Given the description of an element on the screen output the (x, y) to click on. 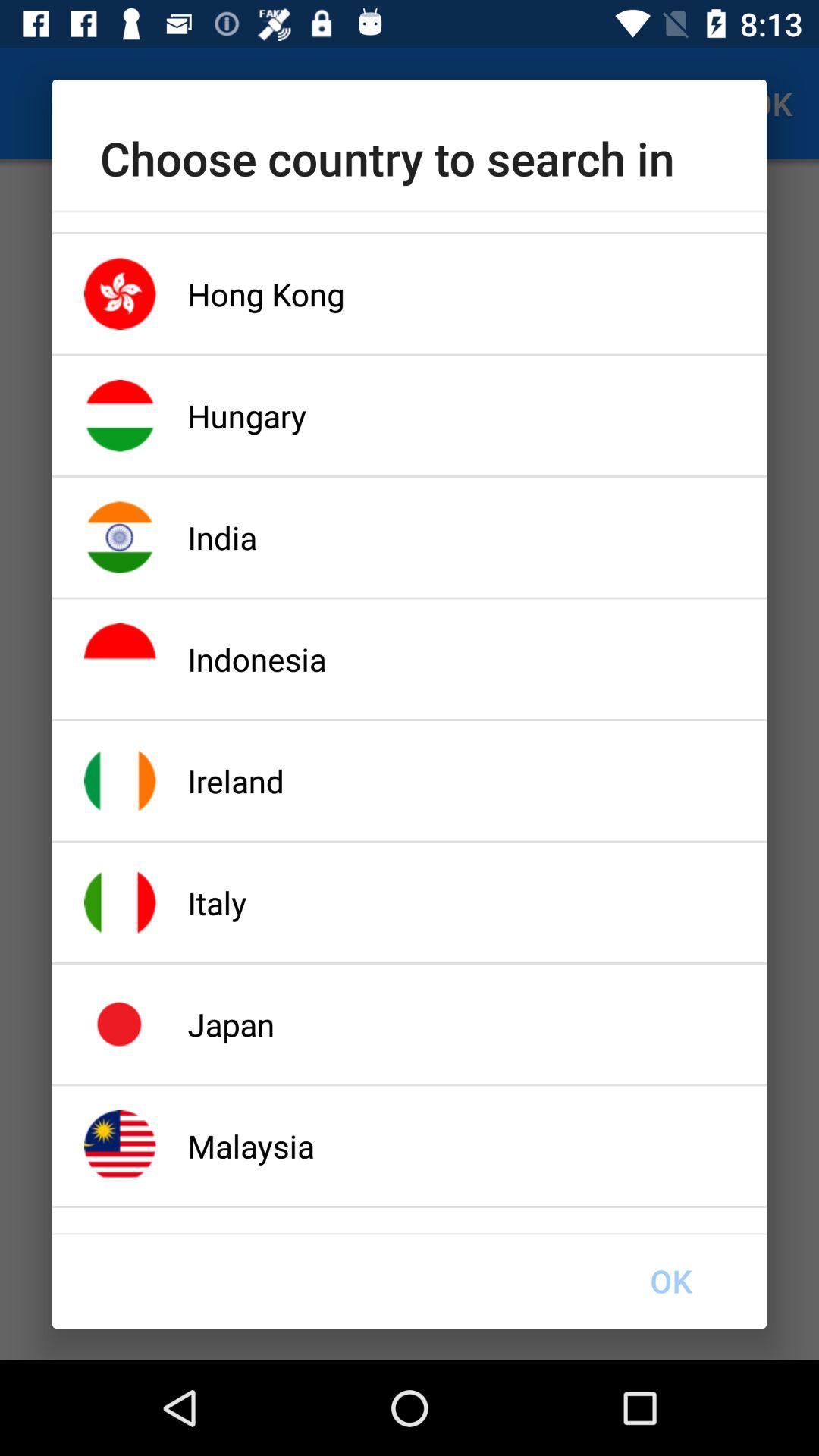
choose ok at the bottom right corner (670, 1280)
